Given the description of an element on the screen output the (x, y) to click on. 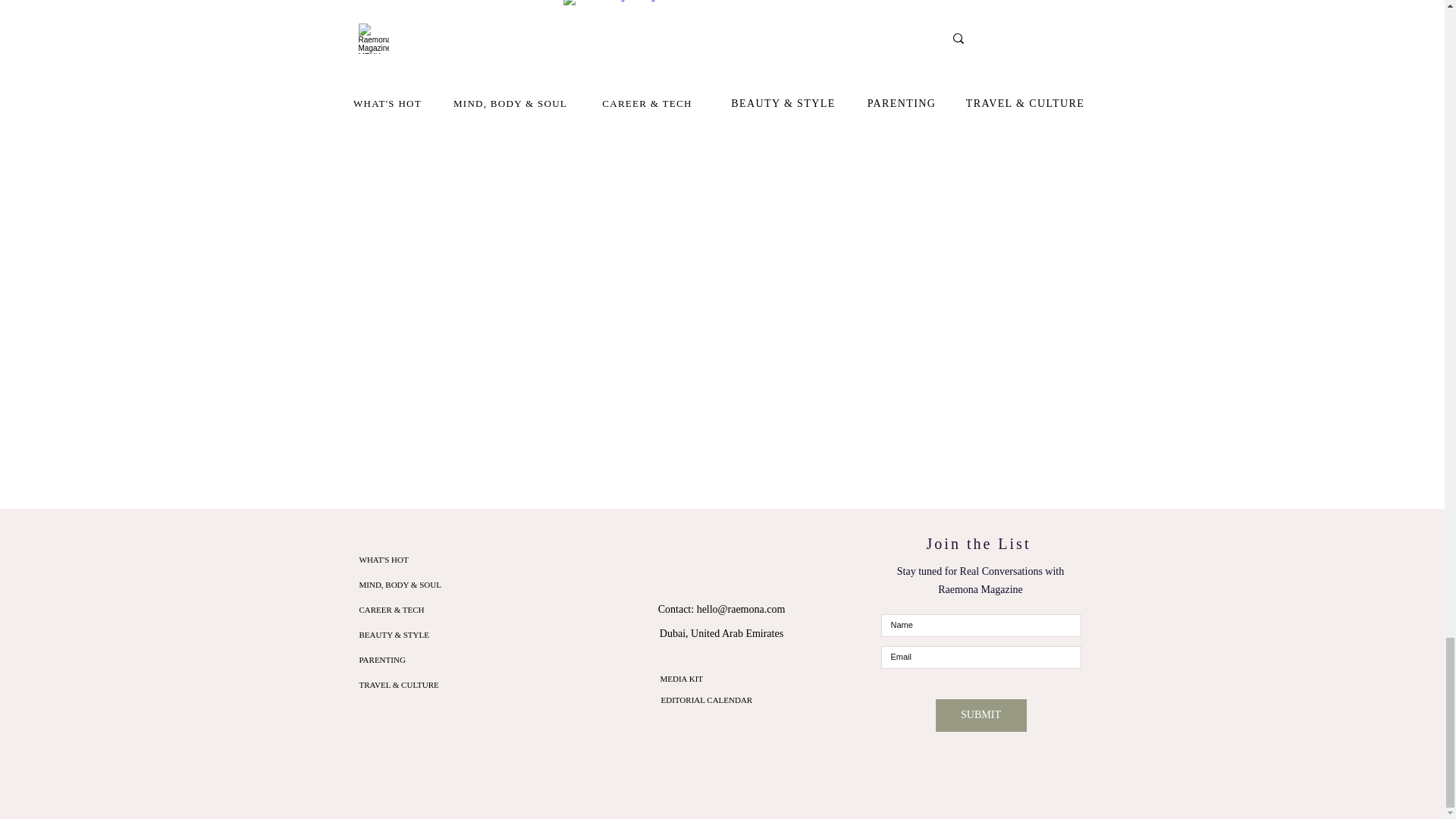
SUBMIT (981, 715)
PARENTING (440, 659)
EDITORIAL CALENDAR (706, 699)
WHAT'S HOT (440, 559)
MEDIA KIT (681, 678)
